Given the description of an element on the screen output the (x, y) to click on. 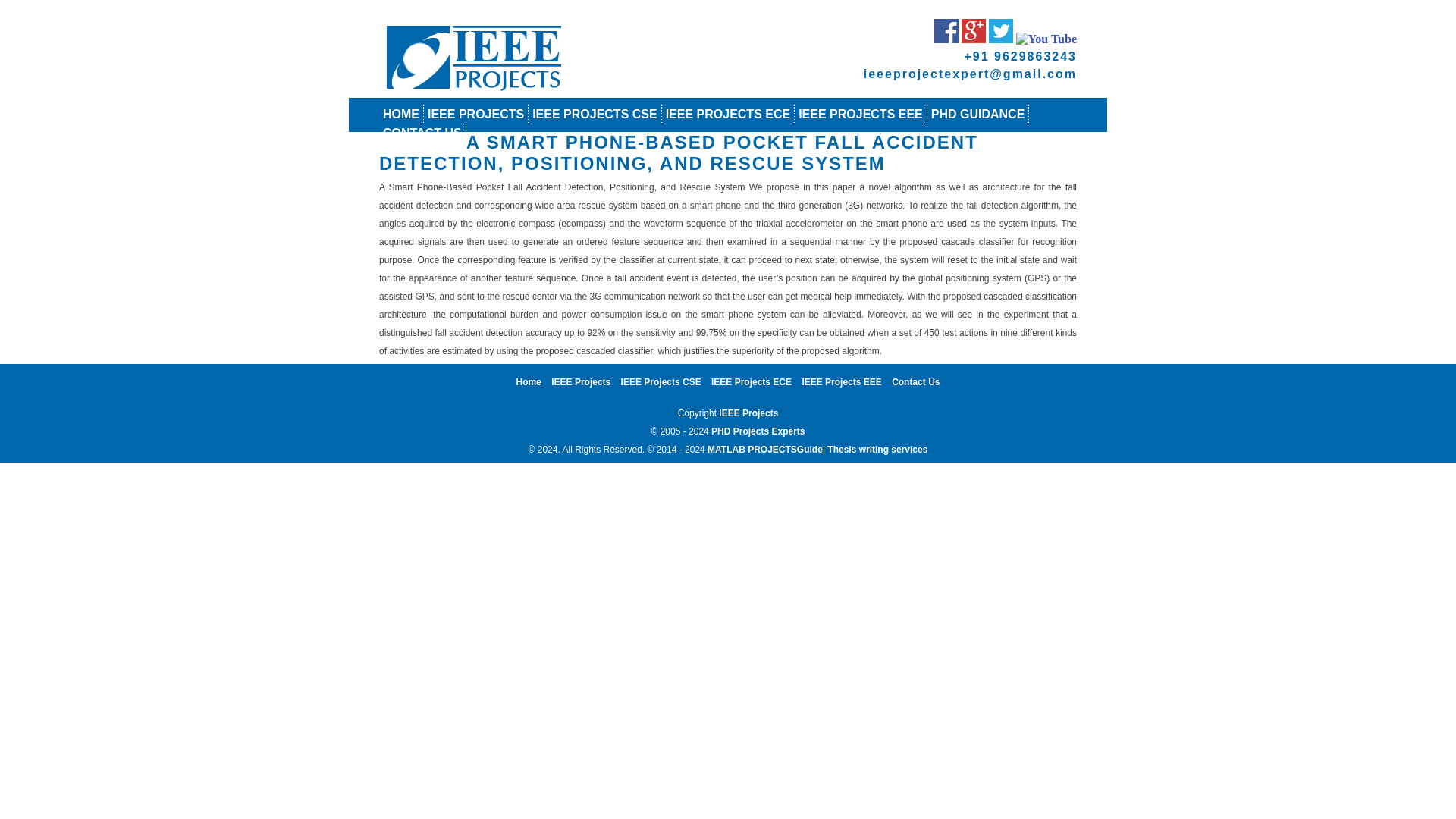
IEEE Projects CSE (661, 381)
HOME (400, 113)
IEEE PROJECTS ECE (727, 113)
IEEE PROJECTS EEE (860, 113)
IEEE Projects (580, 381)
CONTACT US (421, 132)
IEEE PROJECTS (476, 113)
IEEE Projects ECE (751, 381)
PHD GUIDANCE (978, 113)
IEEE PROJECTS CSE (595, 113)
